Given the description of an element on the screen output the (x, y) to click on. 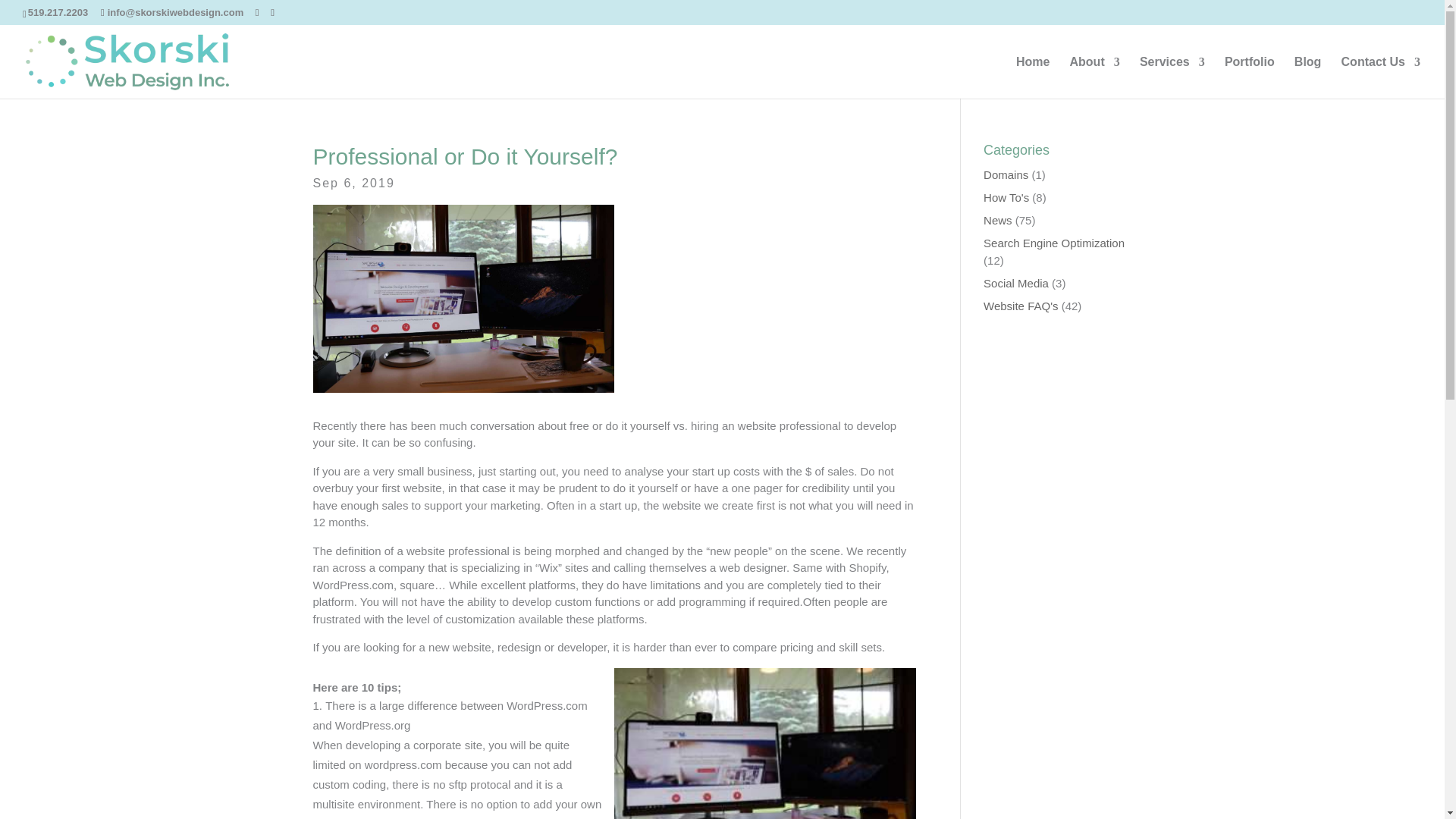
About (1093, 76)
Portfolio (1249, 76)
Contact Us (1380, 76)
Services (1172, 76)
